Given the description of an element on the screen output the (x, y) to click on. 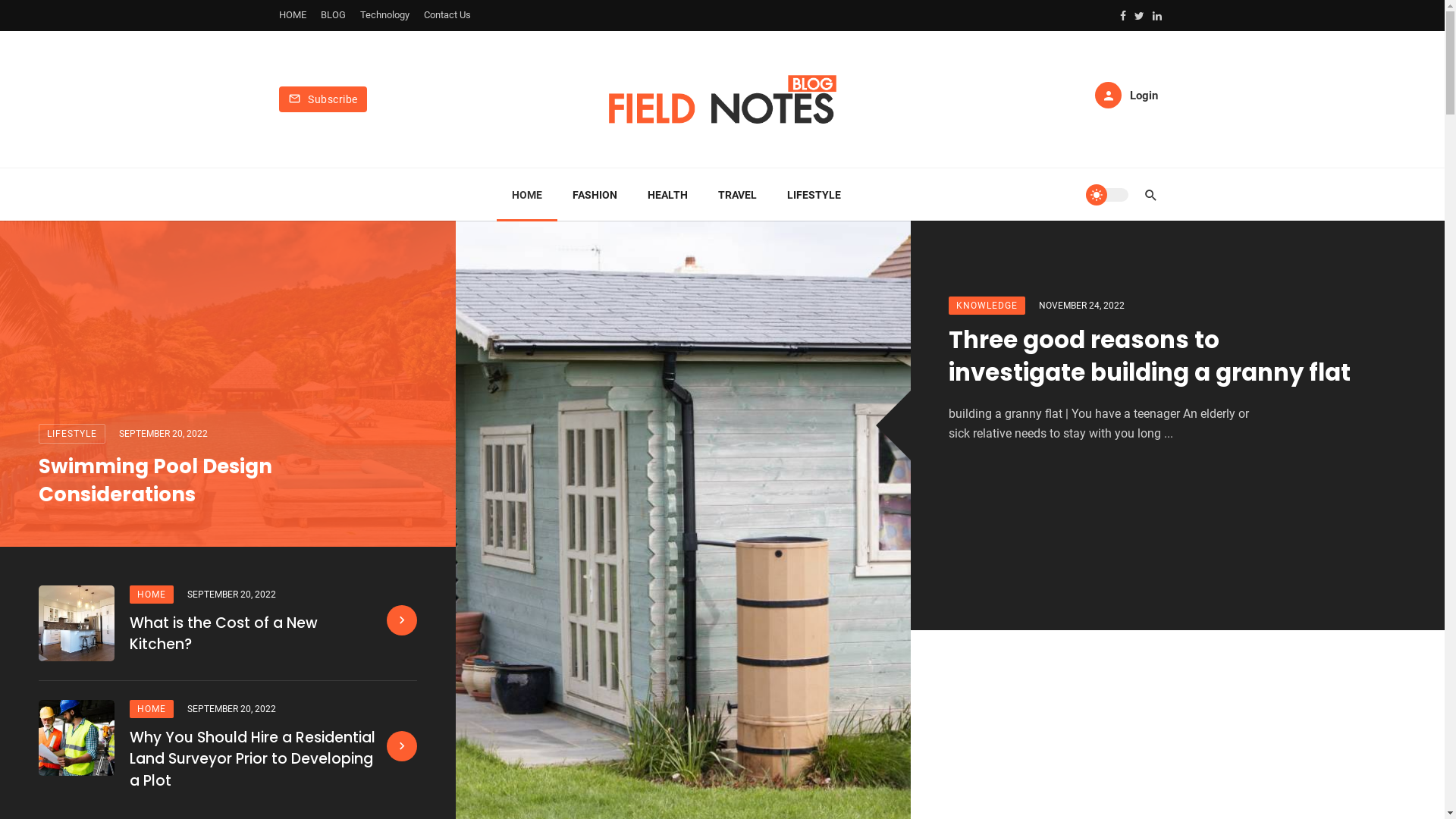
LIFESTYLE Element type: text (71, 433)
LIFESTYLE Element type: text (813, 194)
What is the Cost of a New Kitchen? Element type: text (252, 633)
Login Element type: text (1126, 95)
Swimming Pool Design Considerations Element type: text (227, 480)
KNOWLEDGE Element type: text (986, 305)
Three good reasons to investigate building a granny flat Element type: text (1150, 356)
HOME Element type: text (151, 708)
HOME Element type: text (151, 594)
FASHION Element type: text (593, 194)
Subscribe Element type: text (323, 98)
HOME Element type: text (525, 194)
Technology Element type: text (383, 14)
TRAVEL Element type: text (736, 194)
HOME Element type: text (292, 14)
Contact Us Element type: text (446, 14)
HEALTH Element type: text (667, 194)
BLOG Element type: text (332, 14)
